Given the description of an element on the screen output the (x, y) to click on. 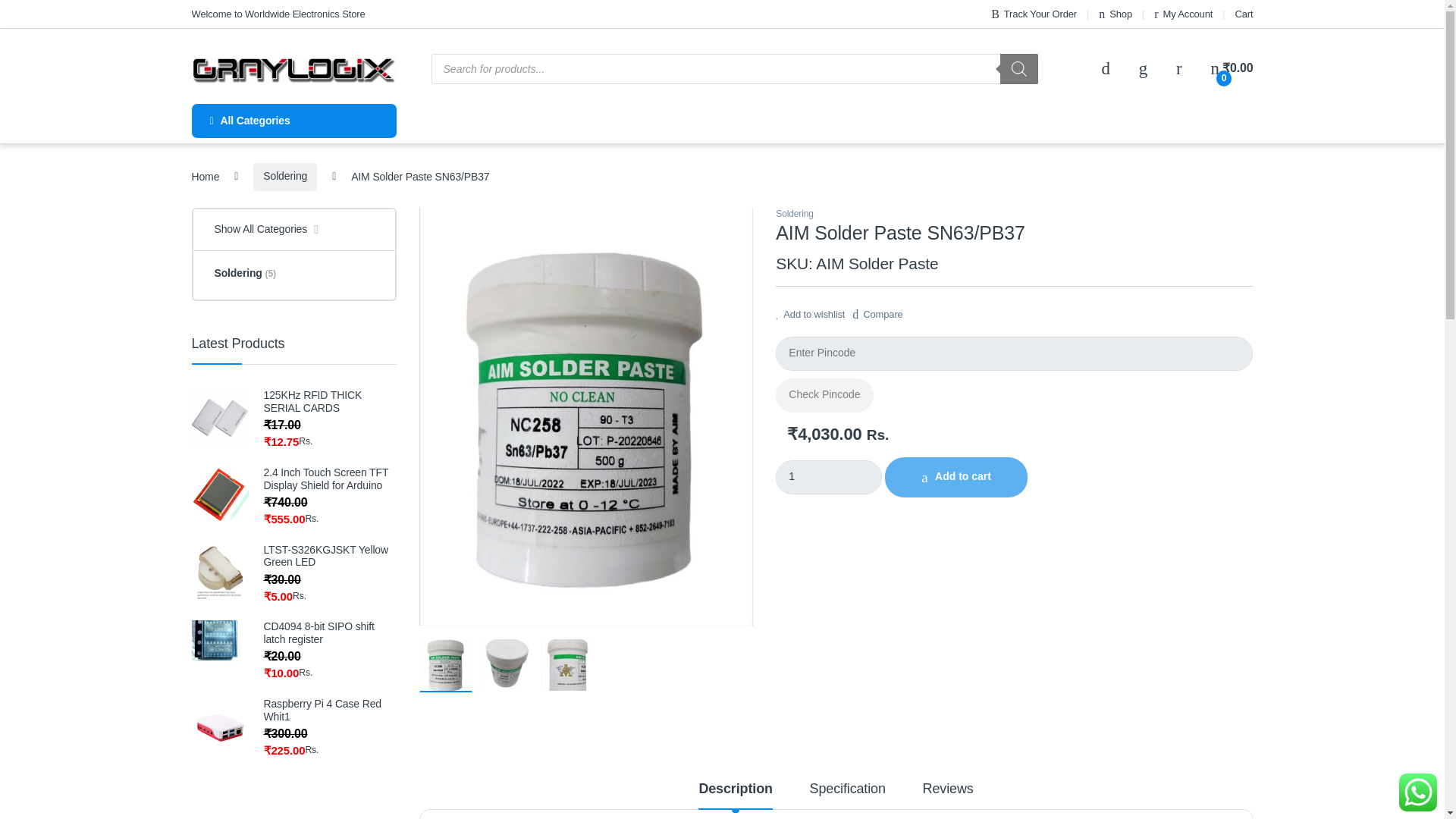
Track Your Order (1034, 13)
Welcome to Worldwide Electronics Store (277, 13)
My Account (1183, 13)
Welcome to Worldwide Electronics Store (277, 13)
My Account (1183, 13)
Track Your Order (1034, 13)
1 (829, 477)
Shop (1115, 13)
Shop (1115, 13)
